Given the description of an element on the screen output the (x, y) to click on. 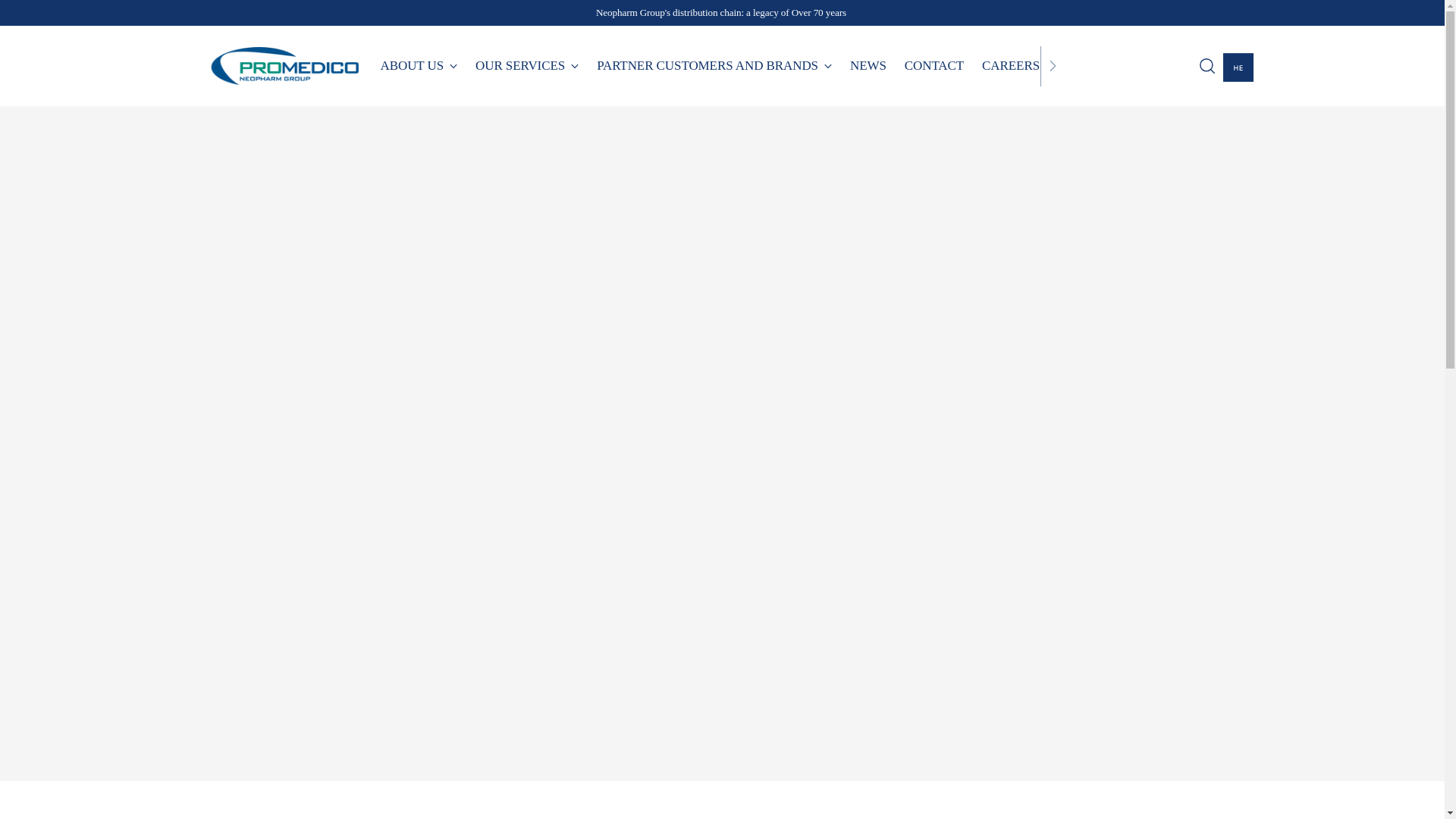
CONTACT (933, 65)
NEWS (868, 65)
ABOUT US (419, 65)
OUR SERVICES (527, 65)
CAREERS (1010, 65)
PARTNER CUSTOMERS AND BRANDS (713, 65)
